Given the description of an element on the screen output the (x, y) to click on. 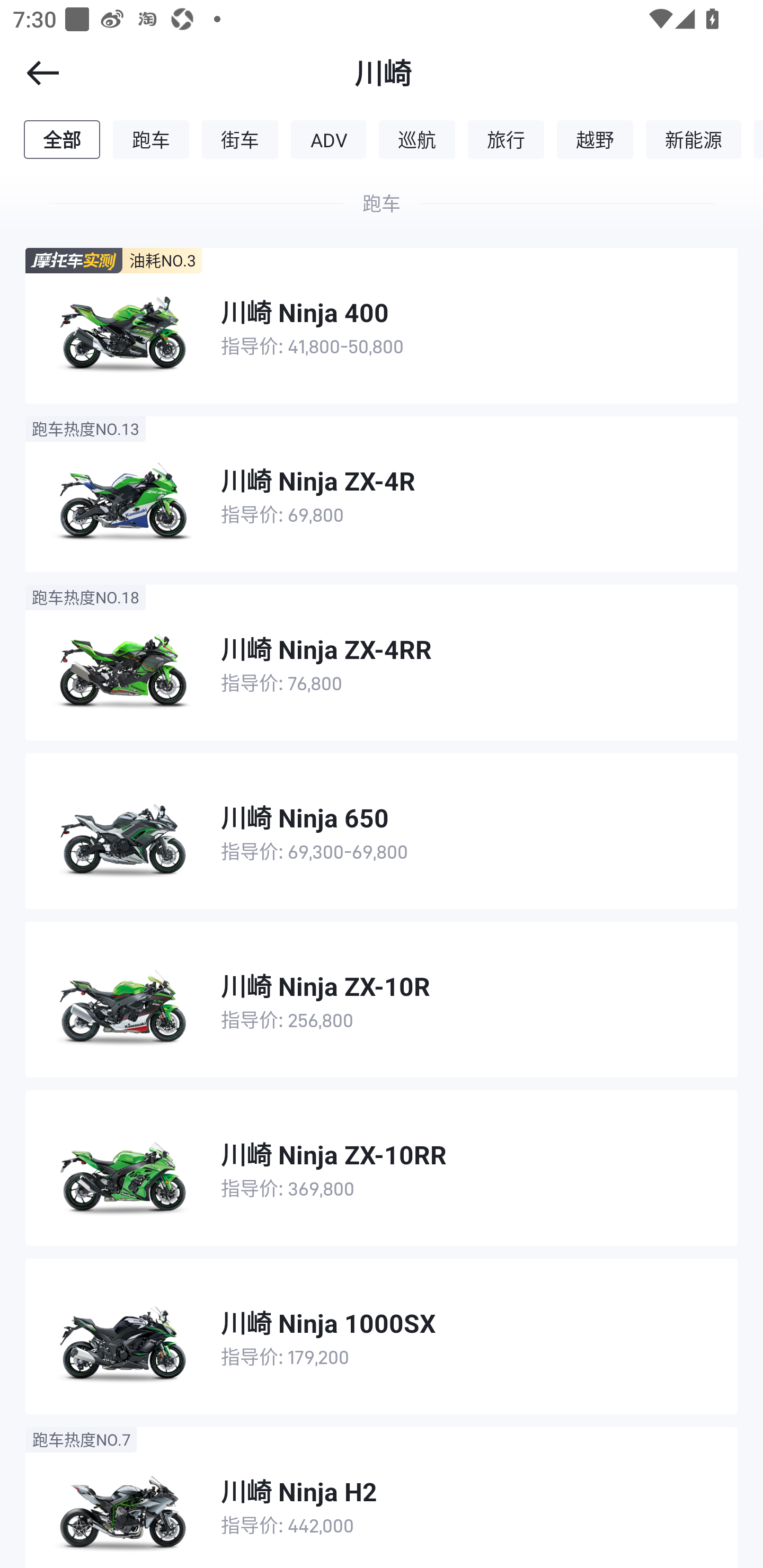
 (30, 72)
全部 (61, 139)
跑车 (150, 139)
街车 (240, 139)
ADV (328, 139)
巡航 (417, 139)
旅行 (505, 139)
越野 (594, 139)
新能源 (693, 139)
油耗NO.3 川崎 Ninja 400 指导价: 41,800-50,800 (381, 324)
跑车热度NO.13 川崎 Ninja ZX-4R 指导价: 69,800 (381, 494)
跑车热度NO.13 (85, 429)
跑车热度NO.18 川崎 Ninja ZX-4RR 指导价: 76,800 (381, 662)
跑车热度NO.18 (85, 596)
川崎 Ninja 650 指导价: 69,300-69,800 (381, 830)
川崎 Ninja ZX-10R 指导价: 256,800 (381, 999)
川崎 Ninja ZX-10RR 指导价: 369,800 (381, 1167)
川崎 Ninja 1000SX 指导价: 179,200 (381, 1336)
跑车热度NO.7 川崎 Ninja H2 指导价: 442,000 (381, 1497)
跑车热度NO.7 (80, 1438)
